Given the description of an element on the screen output the (x, y) to click on. 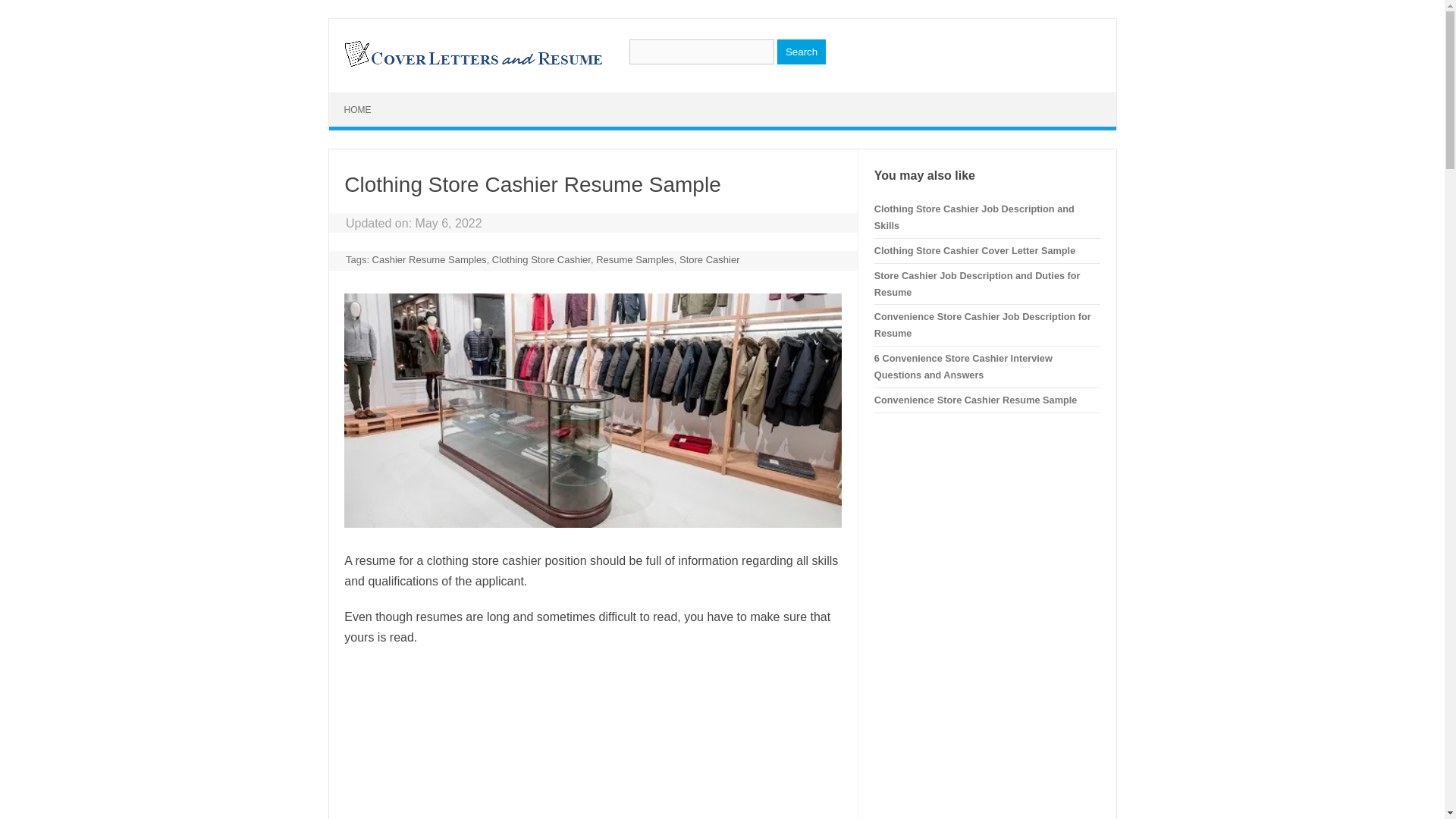
Store Cashier Job Description and Duties for Resume (977, 284)
Search (801, 51)
Convenience Store Cashier Resume Sample (976, 399)
6 Convenience Store Cashier Interview Questions and Answers (963, 366)
Resume Samples (634, 259)
Clothing Store Cashier Job Description and Skills (974, 216)
HOME (358, 109)
Store Cashier (709, 259)
Advertisement (592, 740)
Clothing Store Cashier (541, 259)
